Given the description of an element on the screen output the (x, y) to click on. 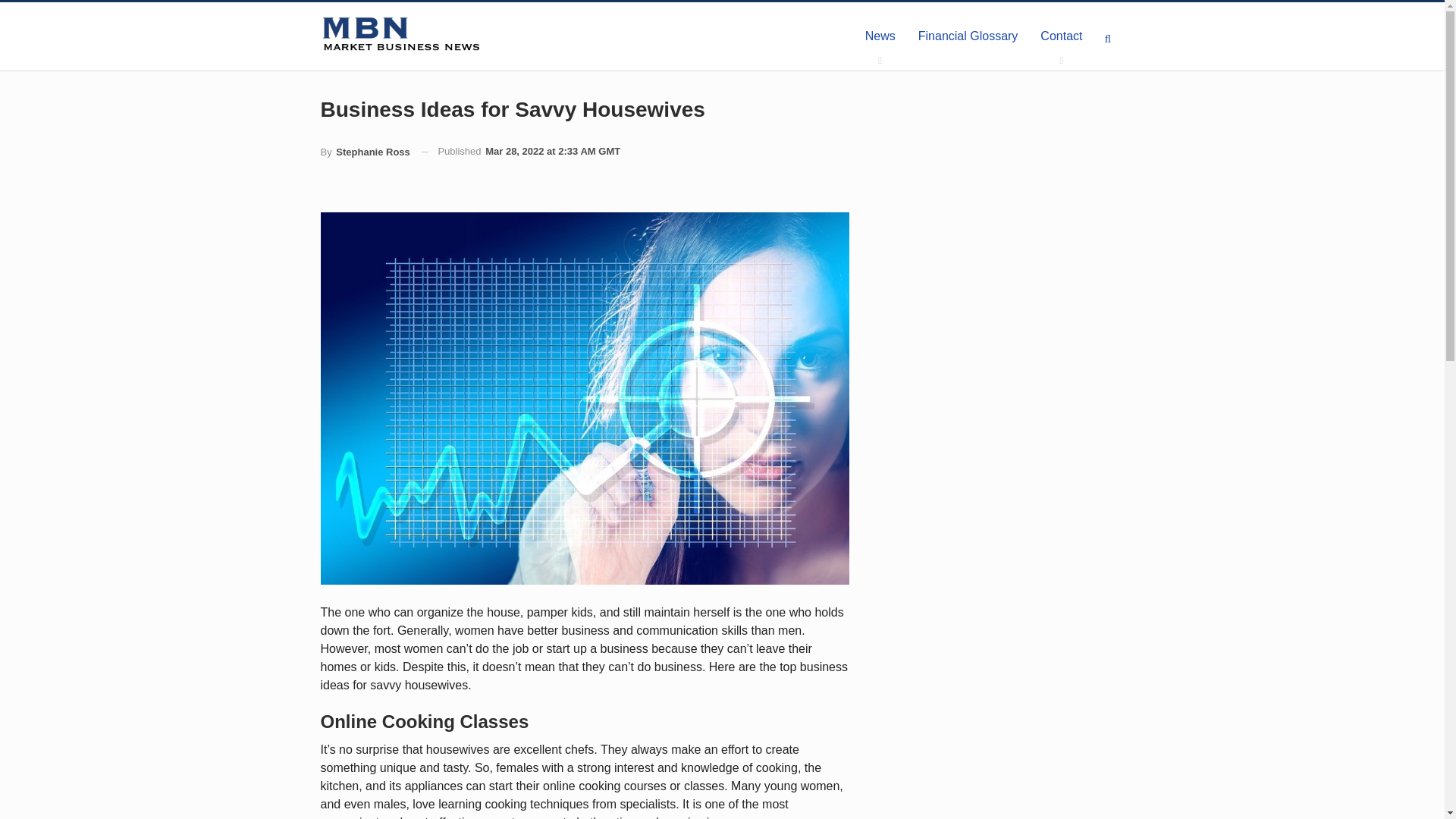
Contact (1061, 36)
Financial Glossary (968, 36)
Browse Author Articles (364, 152)
By Stephanie Ross (364, 152)
